Given the description of an element on the screen output the (x, y) to click on. 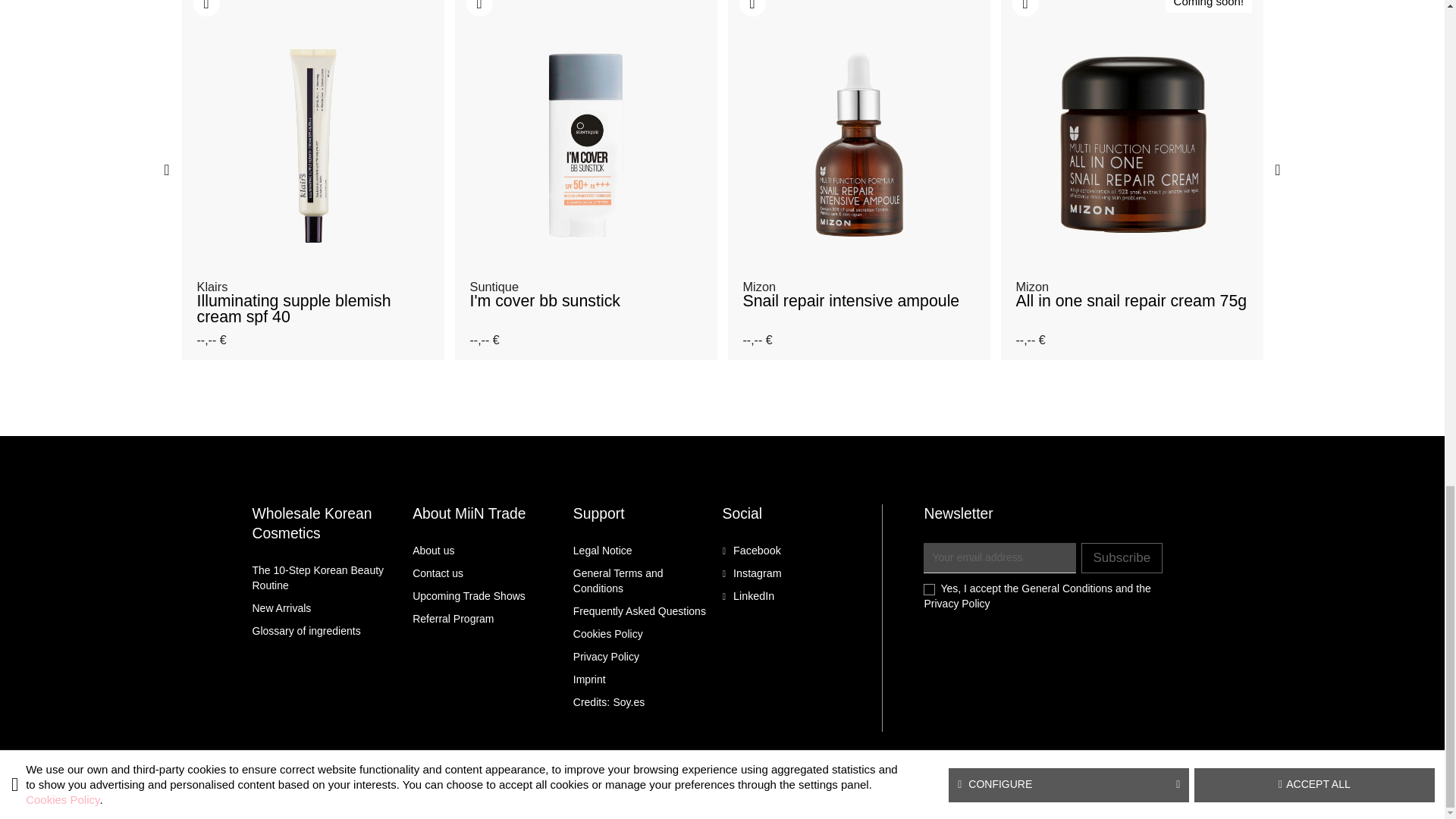
Subscribe (1122, 557)
Legal notice (602, 550)
Our terms and conditions of use (618, 580)
